Given the description of an element on the screen output the (x, y) to click on. 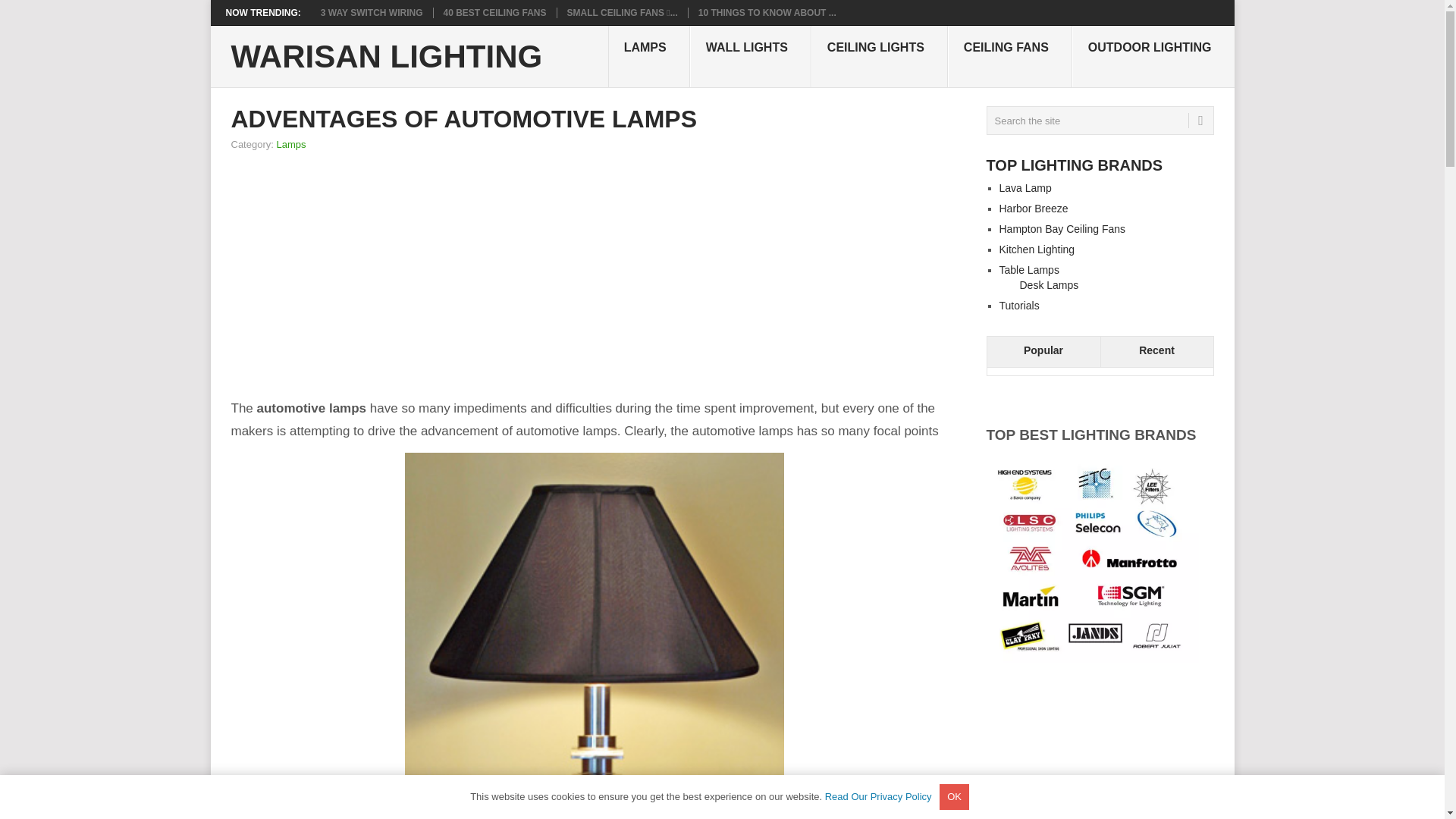
Table Lamps (1028, 269)
LAMPS (649, 56)
Tutorials (1018, 305)
Desk Lamps (1048, 285)
CEILING LIGHTS (878, 56)
Hampton Bay Ceiling Fans (1061, 228)
10 THINGS TO KNOW ABOUT ... (766, 12)
Harbor Breeze (1033, 208)
WALL LIGHTS (750, 56)
40 Best Ceiling Fans (495, 12)
